Given the description of an element on the screen output the (x, y) to click on. 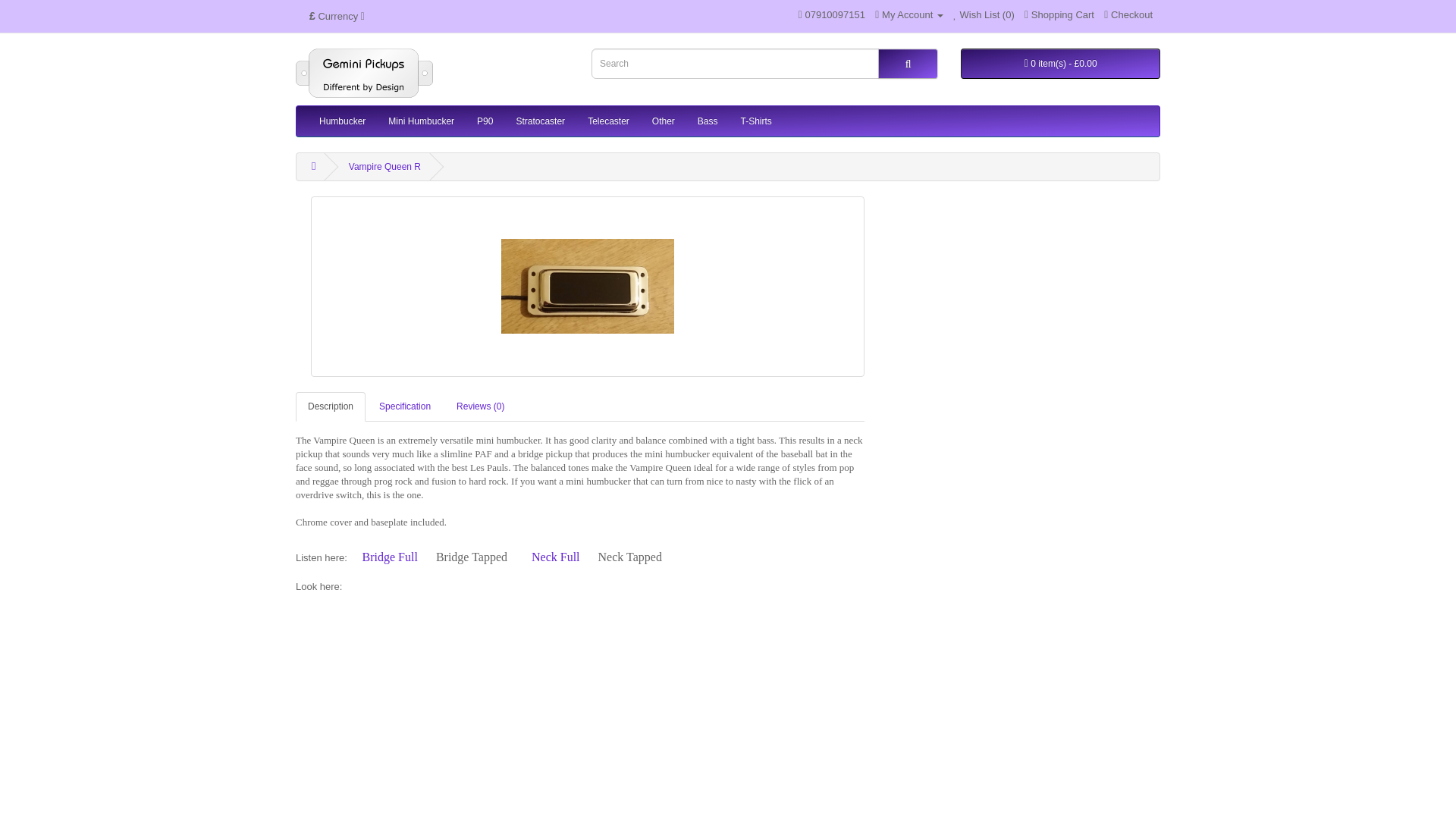
Vampire Queen R (587, 286)
Gemini Pickups (363, 72)
Vampire Queen R (587, 286)
Telecaster (608, 121)
Stratocaster (539, 121)
Humbucker (342, 121)
Shopping Cart (1059, 14)
Checkout (1128, 14)
Checkout (1128, 14)
Bass (707, 121)
My Account (909, 14)
Mini Humbucker (421, 121)
My Account (909, 14)
Shopping Cart (1059, 14)
P90 (484, 121)
